Given the description of an element on the screen output the (x, y) to click on. 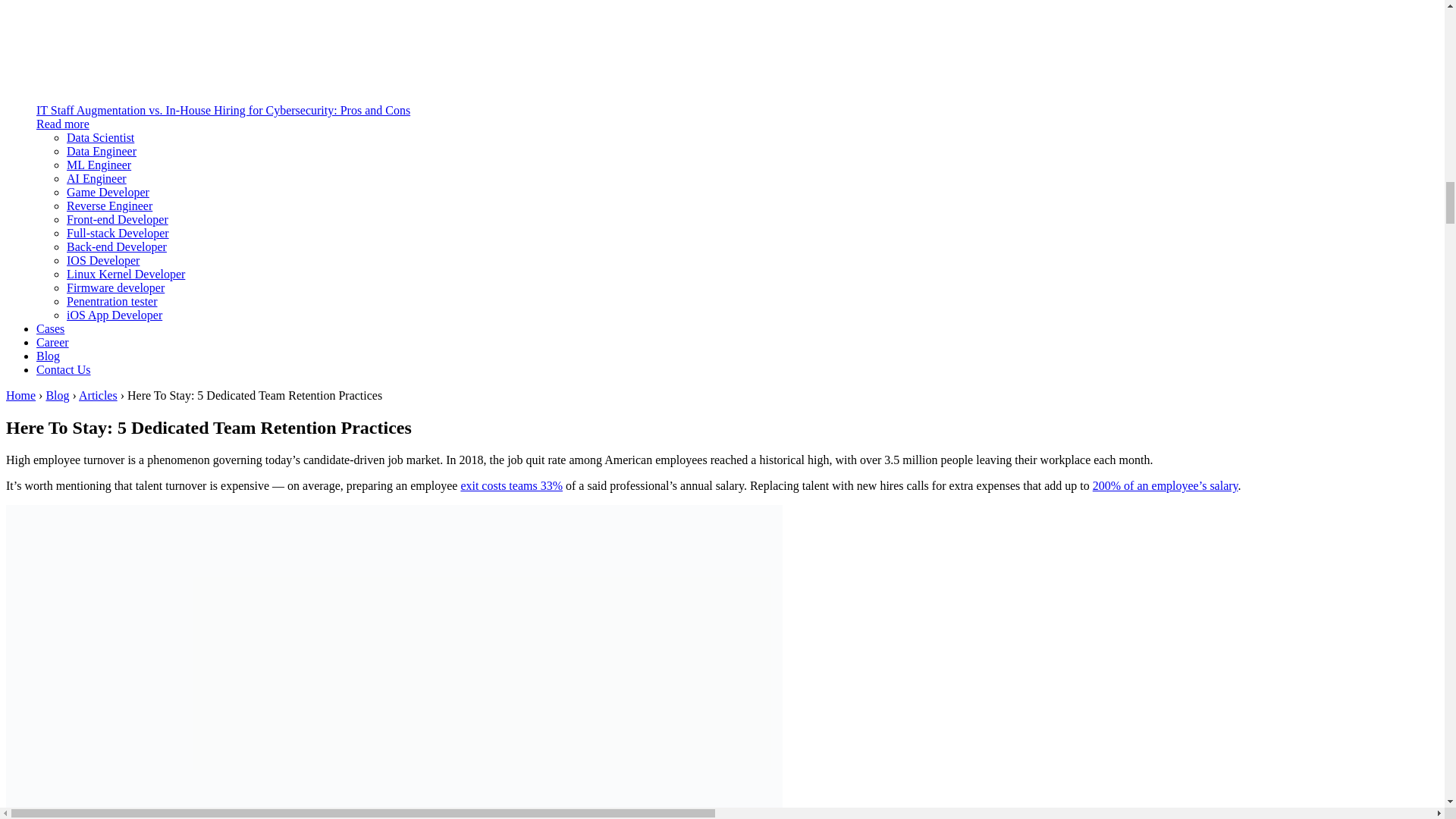
AI Engineer (96, 178)
Data Engineer (101, 151)
ML Engineer (98, 164)
Data Scientist (99, 137)
